Given the description of an element on the screen output the (x, y) to click on. 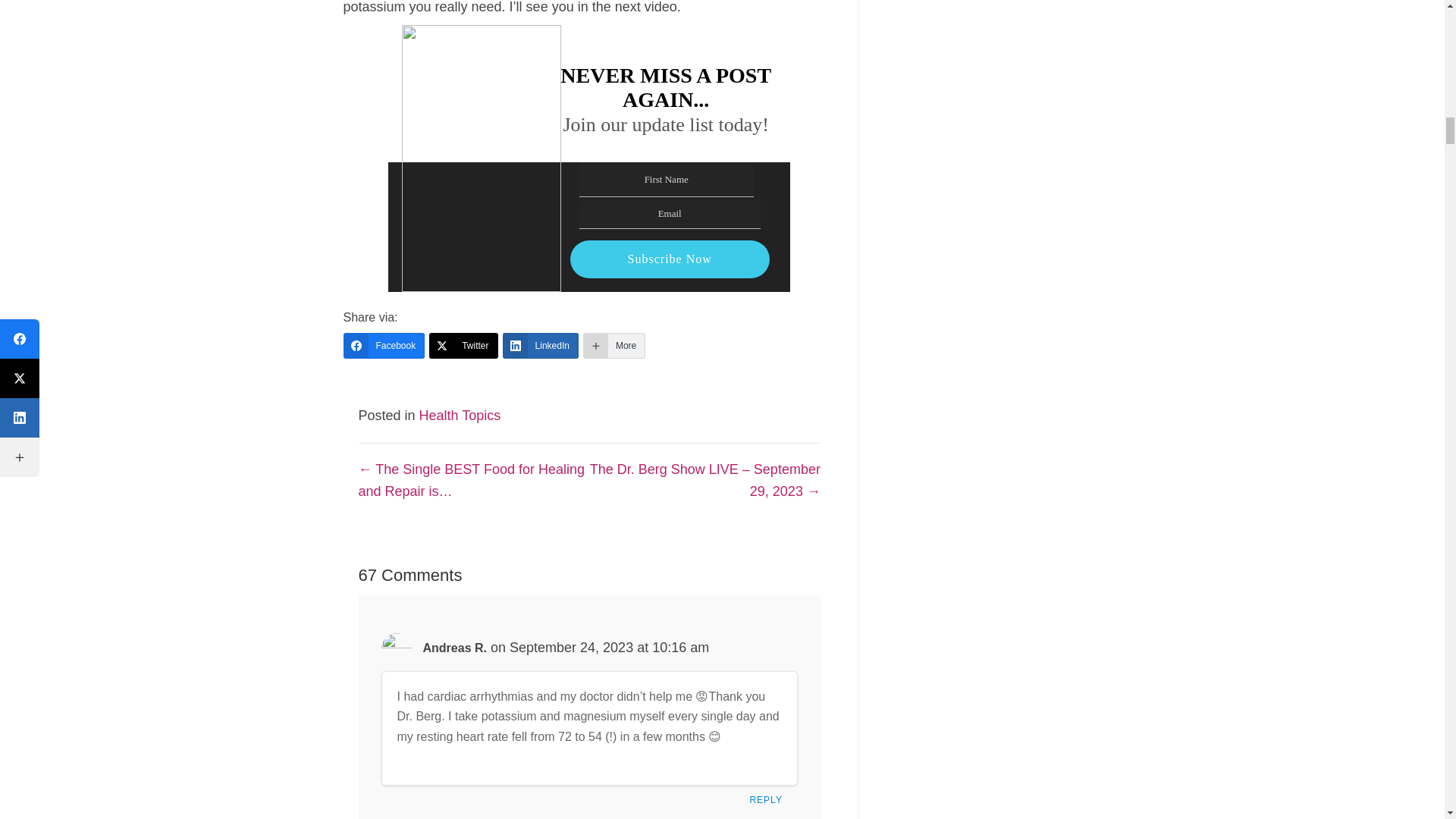
Subscribe Now (670, 259)
Health Topics (459, 415)
LinkedIn (540, 345)
Twitter (463, 345)
REPLY (769, 803)
Facebook (383, 345)
More (614, 345)
